Given the description of an element on the screen output the (x, y) to click on. 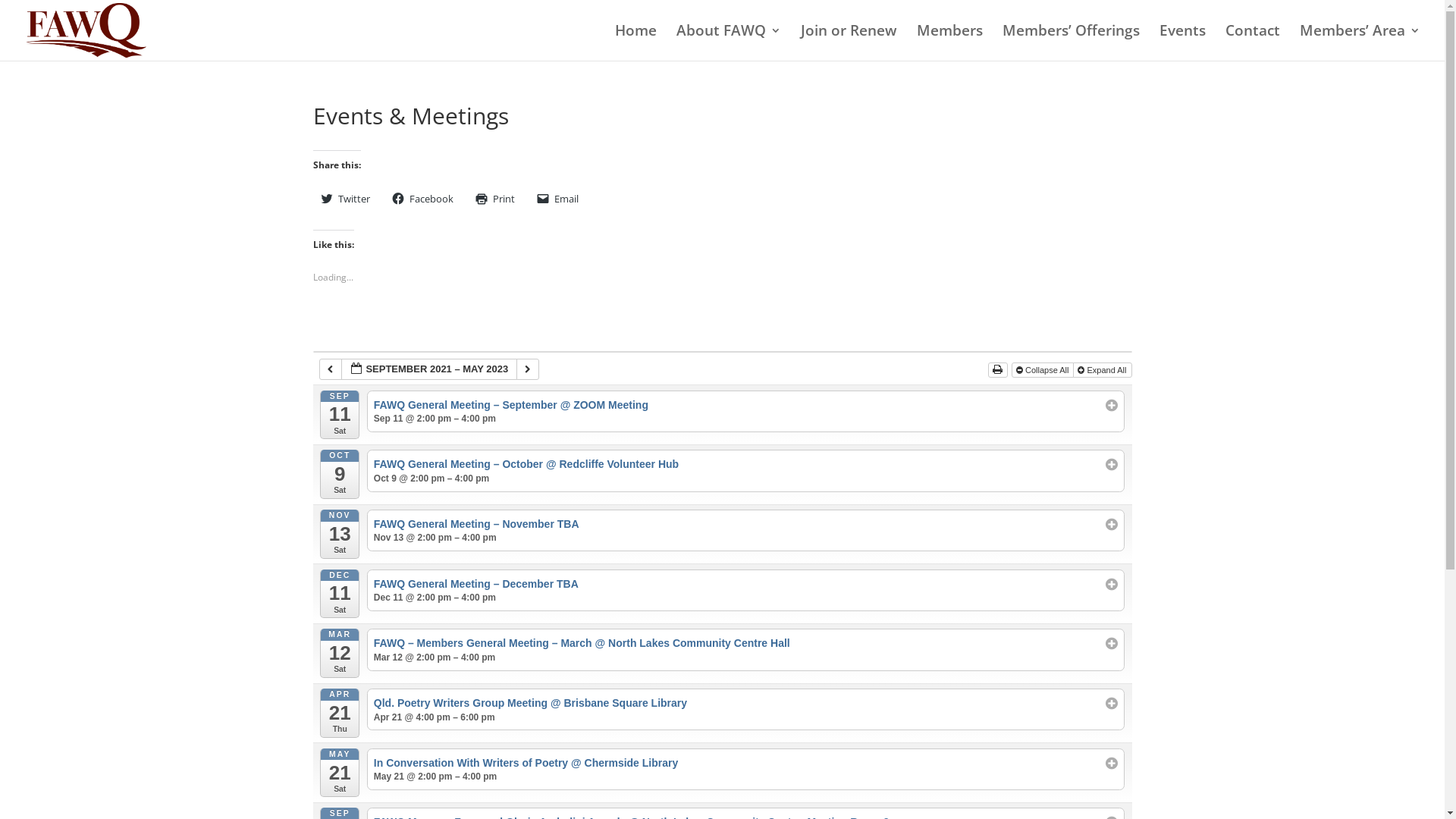
Twitter Element type: text (344, 198)
Contact Element type: text (1252, 42)
SEP
11
Sat Element type: text (339, 414)
OCT
9
Sat Element type: text (339, 473)
APR
21
Thu Element type: text (339, 712)
Expand All Element type: text (1102, 370)
Like or Reblog Element type: hover (721, 330)
DEC
11
Sat Element type: text (339, 593)
Home Element type: text (635, 42)
Facebook Element type: text (422, 198)
Email Element type: text (557, 198)
Events Element type: text (1182, 42)
Members Element type: text (949, 42)
MAY
21
Sat Element type: text (339, 772)
NOV
13
Sat Element type: text (339, 533)
Join or Renew Element type: text (848, 42)
About FAWQ Element type: text (728, 42)
Print Element type: text (494, 198)
MAR
12
Sat Element type: text (339, 652)
Collapse All Element type: text (1042, 370)
